Given the description of an element on the screen output the (x, y) to click on. 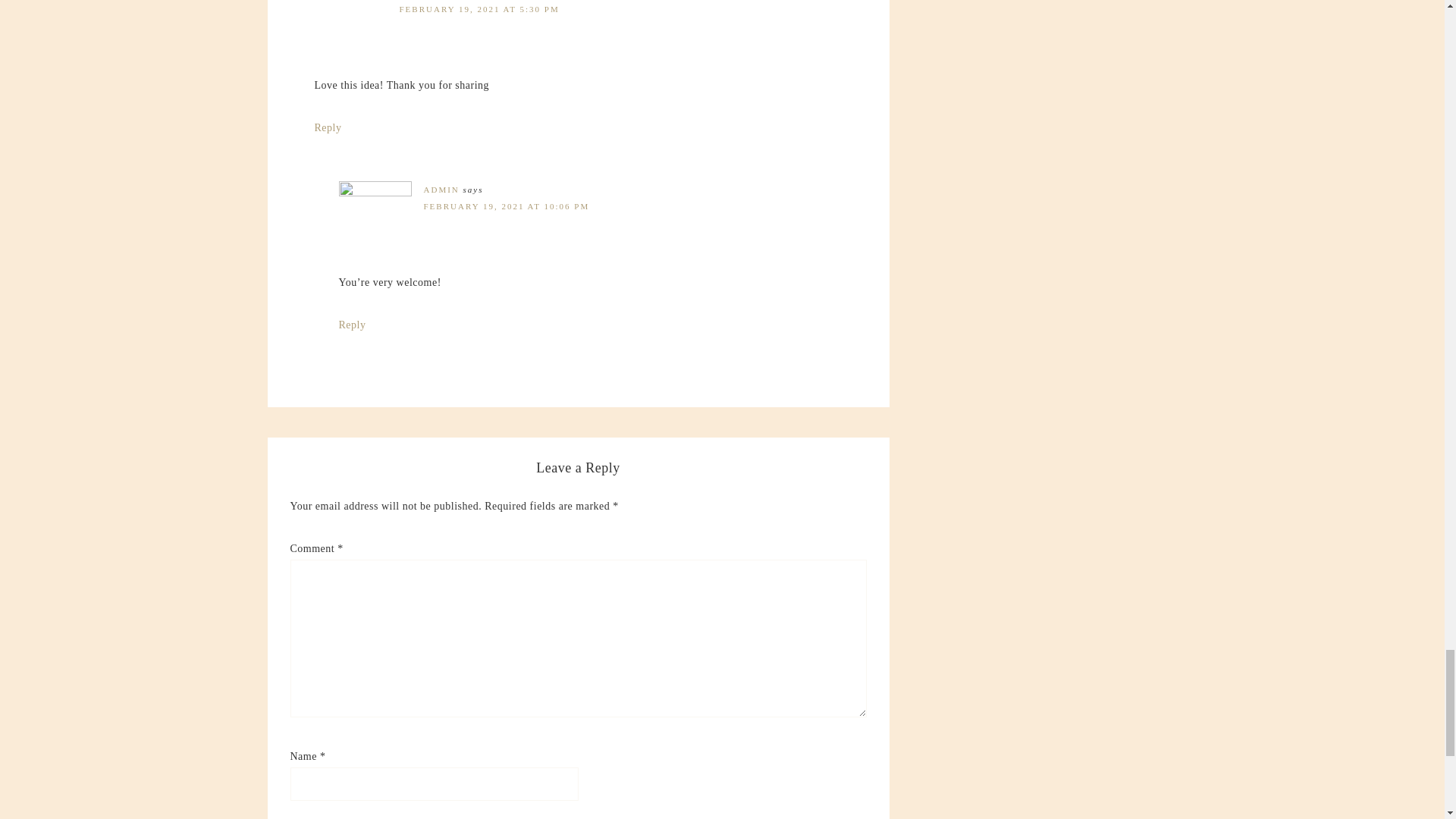
Reply (351, 324)
ADMIN (440, 189)
FEBRUARY 19, 2021 AT 10:06 PM (506, 205)
Reply (327, 127)
FEBRUARY 19, 2021 AT 5:30 PM (478, 8)
